Given the description of an element on the screen output the (x, y) to click on. 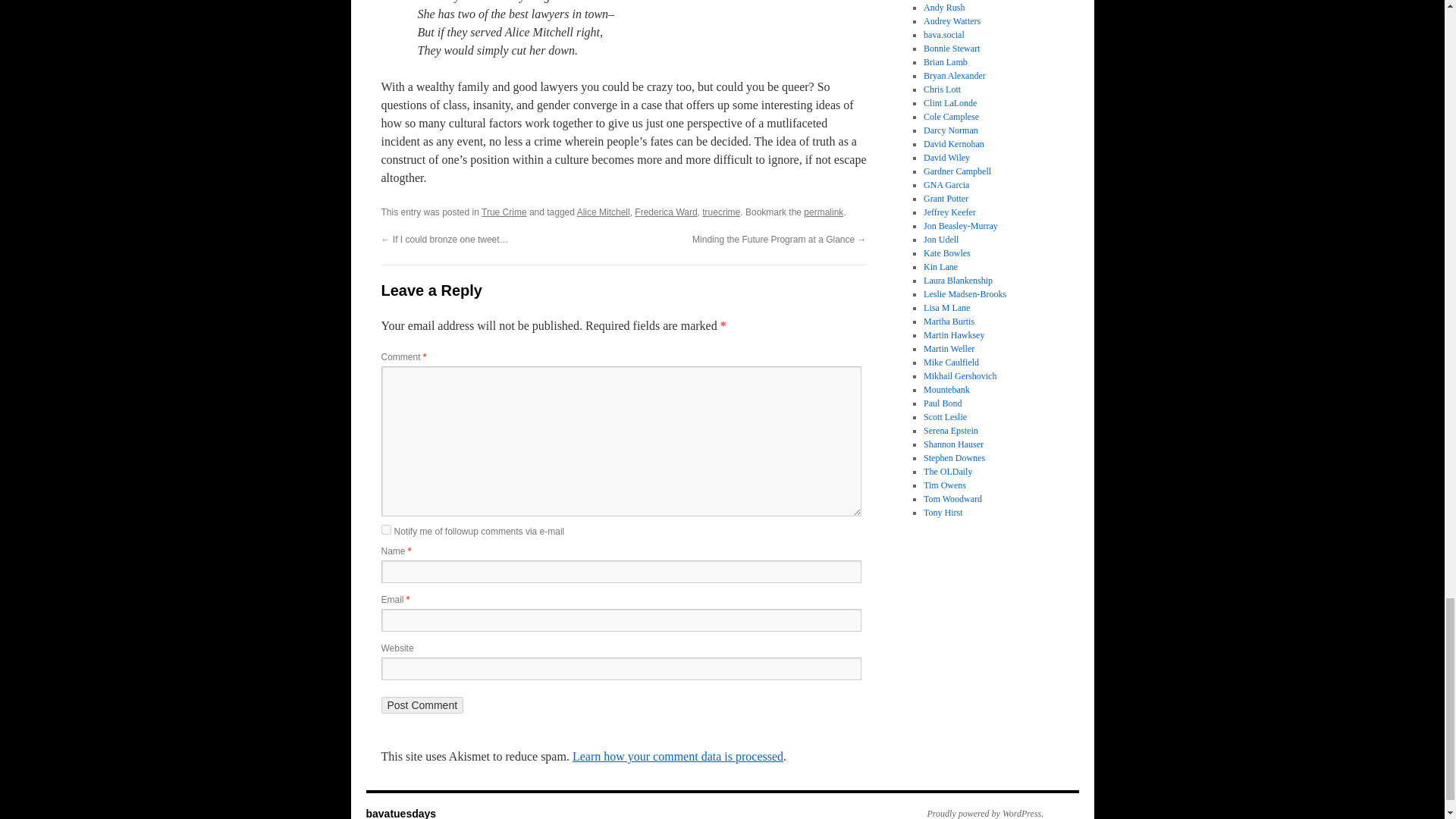
Permalink to The Insanity of Gender Trouble (823, 212)
Learn how your comment data is processed (677, 756)
Post Comment (421, 704)
Alice Mitchell (603, 212)
Post Comment (421, 704)
Lauren Blankenship lays it down (957, 280)
subscribe (385, 529)
permalink (823, 212)
Frederica Ward (665, 212)
True Crime (504, 212)
